Given the description of an element on the screen output the (x, y) to click on. 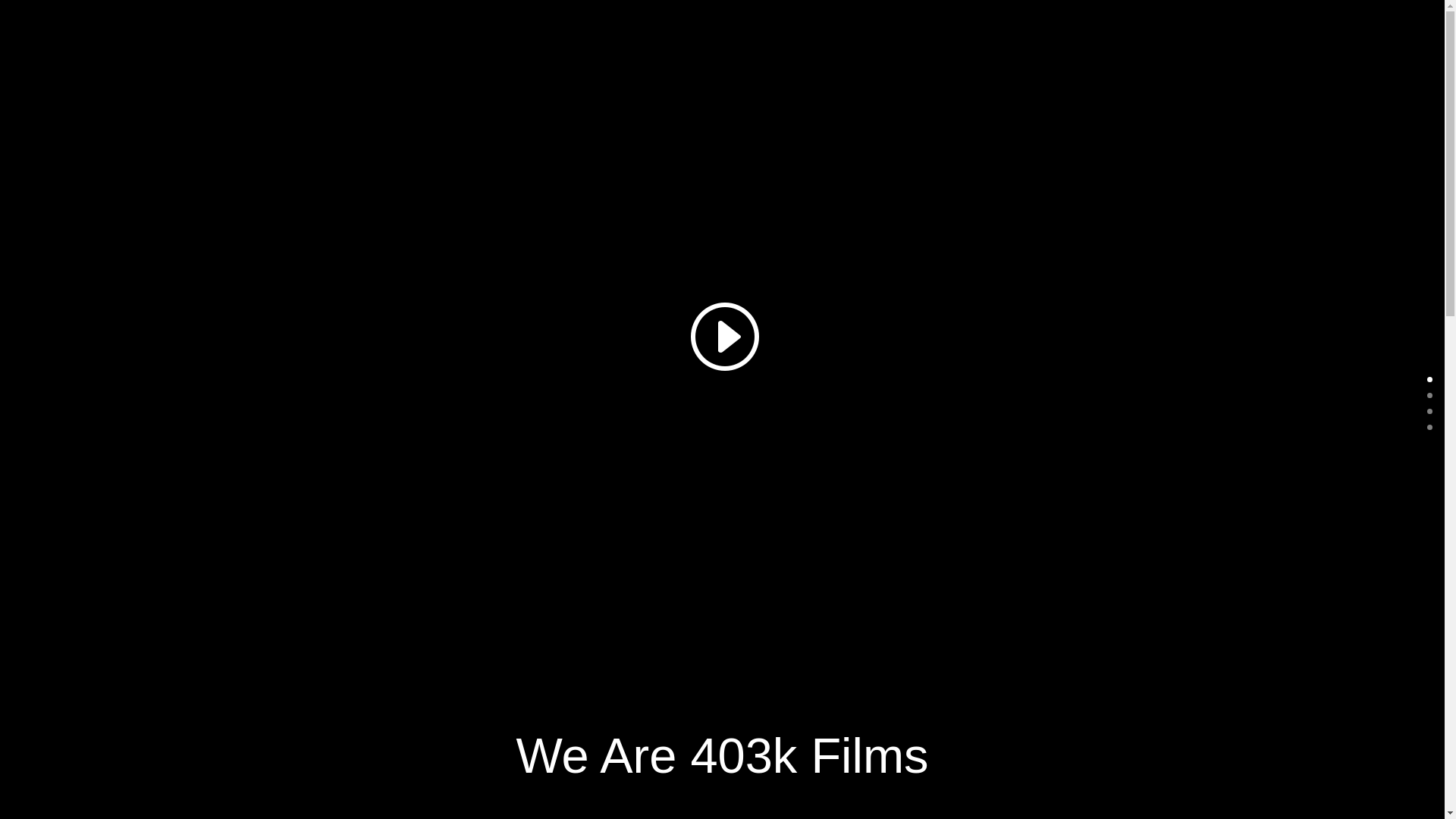
3 Element type: text (1429, 426)
1 Element type: text (1429, 395)
Make Sneaker Culture Great Again - Web Series Teaser Element type: hover (722, 334)
0 Element type: text (1429, 379)
2 Element type: text (1429, 411)
